Given the description of an element on the screen output the (x, y) to click on. 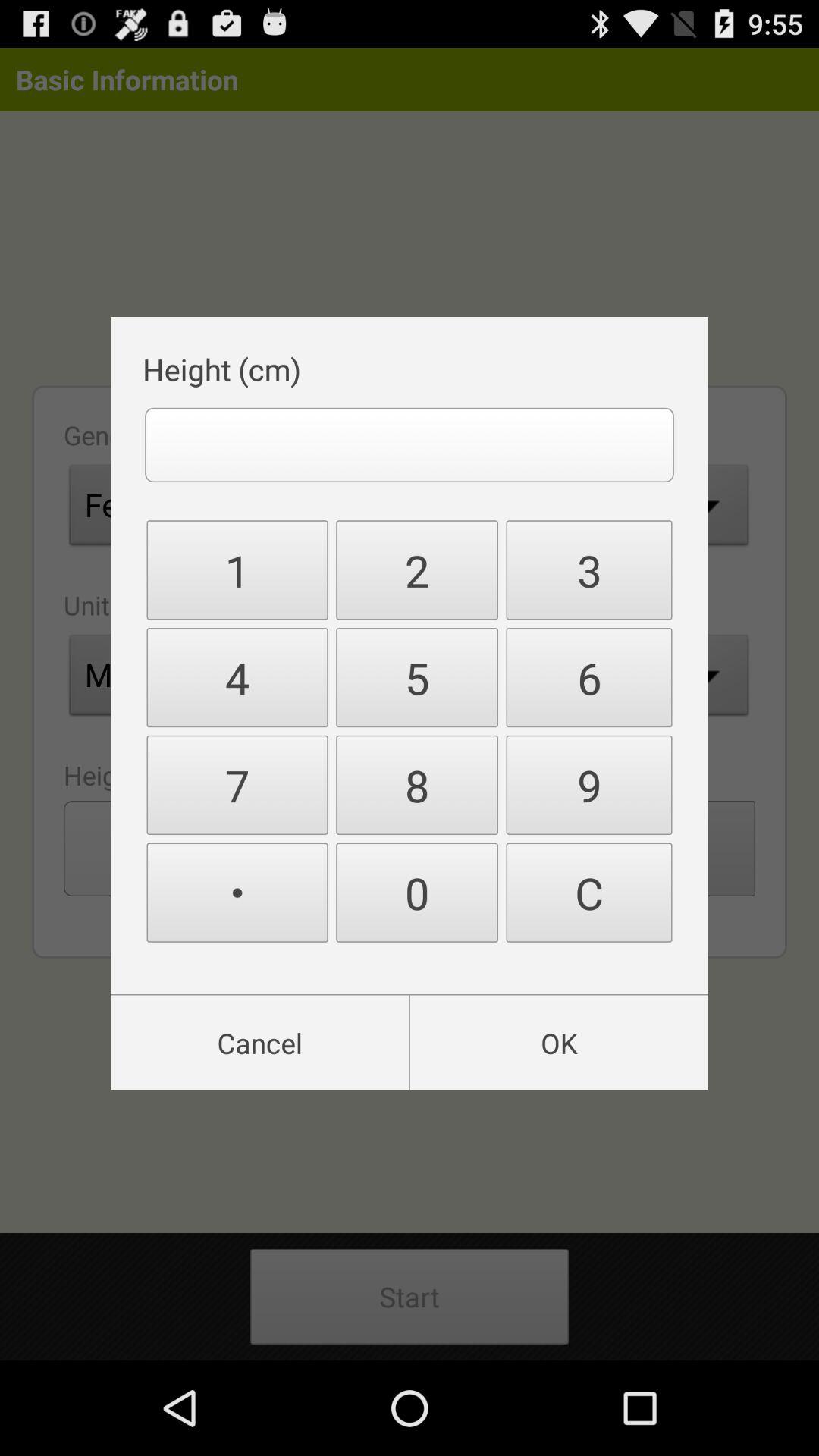
tap the 5 icon (417, 677)
